Given the description of an element on the screen output the (x, y) to click on. 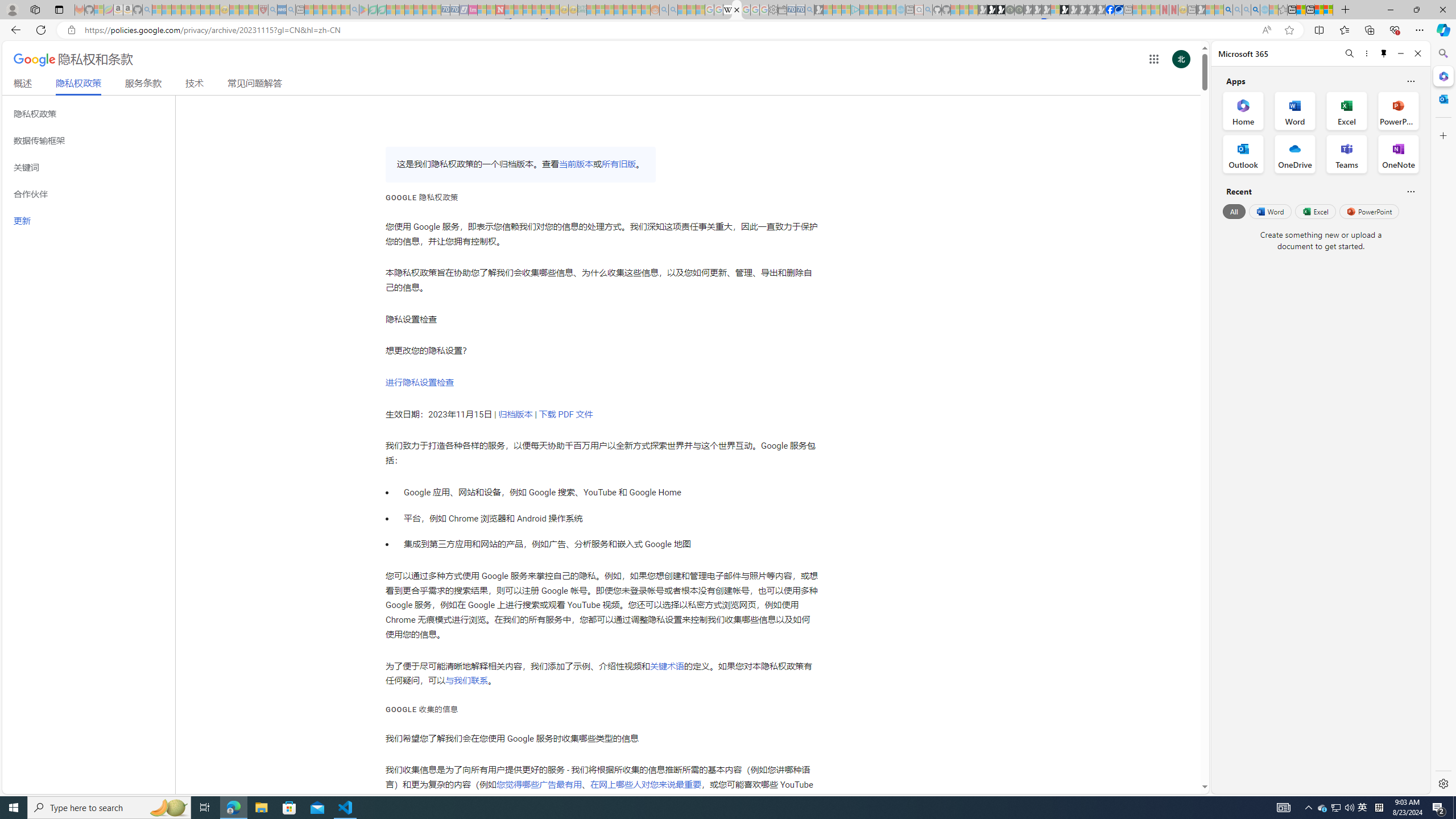
Outlook Office App (1243, 154)
Bing AI - Search (1227, 9)
